Given the description of an element on the screen output the (x, y) to click on. 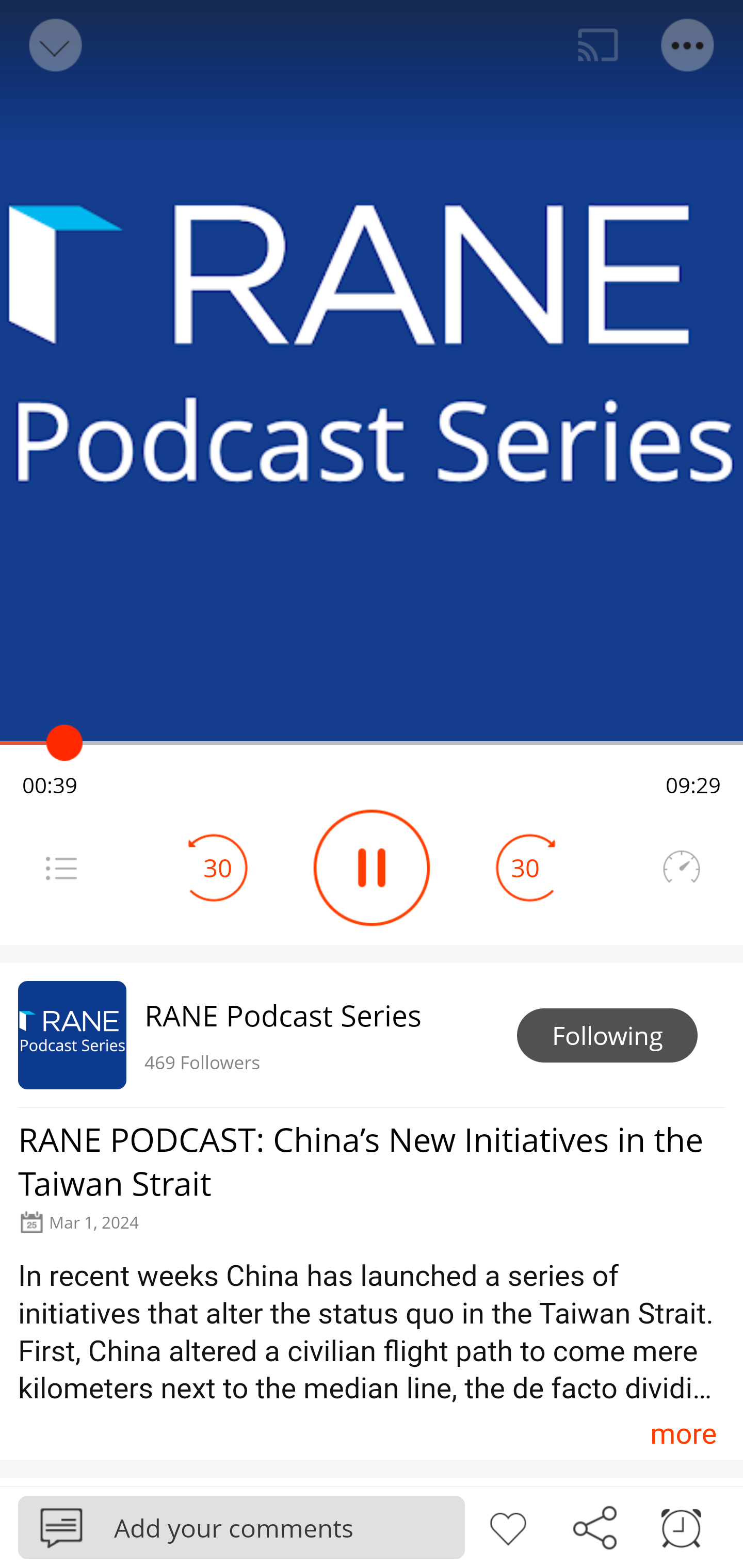
Back (53, 45)
Cast. Disconnected (597, 45)
Menu (688, 45)
Play (371, 867)
30 Seek Backward (217, 867)
30 Seek Forward (525, 867)
Menu (60, 867)
Speedometer (681, 867)
RANE Podcast Series 469 Followers Following (371, 1034)
Following (607, 1035)
more (682, 1432)
Like (508, 1526)
Share (594, 1526)
Sleep timer (681, 1526)
Podbean Add your comments (241, 1526)
